Given the description of an element on the screen output the (x, y) to click on. 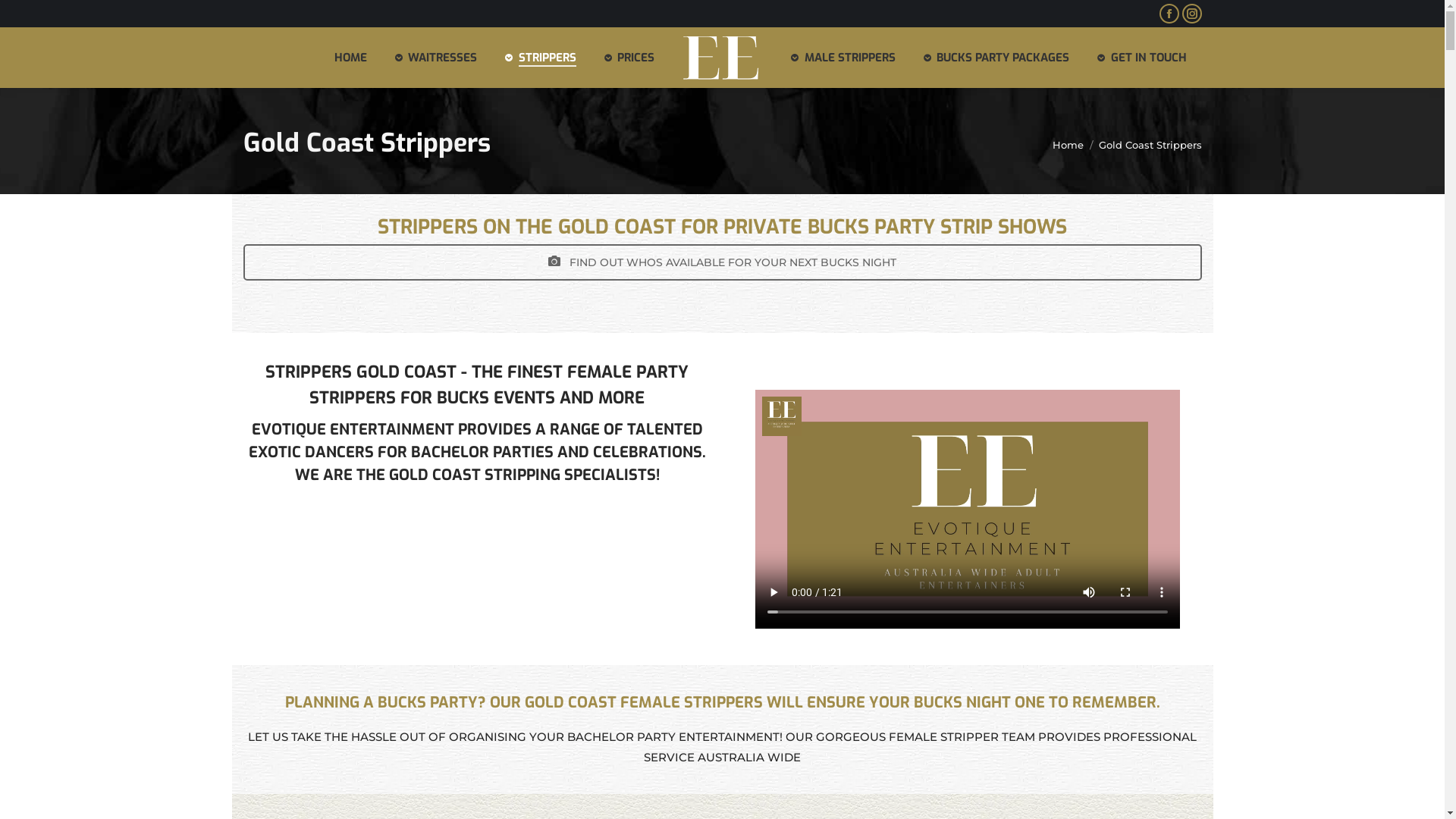
BUCKS PARTY PACKAGES Element type: text (995, 57)
Facebook page opens in new window Element type: text (1168, 13)
MALE STRIPPERS Element type: text (842, 57)
Instagram page opens in new window Element type: text (1191, 13)
HOME Element type: text (349, 57)
Home Element type: text (1067, 144)
STRIPPERS Element type: text (540, 57)
WAITRESSES Element type: text (435, 57)
GET IN TOUCH Element type: text (1141, 57)
PRICES Element type: text (629, 57)
FIND OUT WHOS AVAILABLE FOR YOUR NEXT BUCKS NIGHT Element type: text (721, 262)
